Given the description of an element on the screen output the (x, y) to click on. 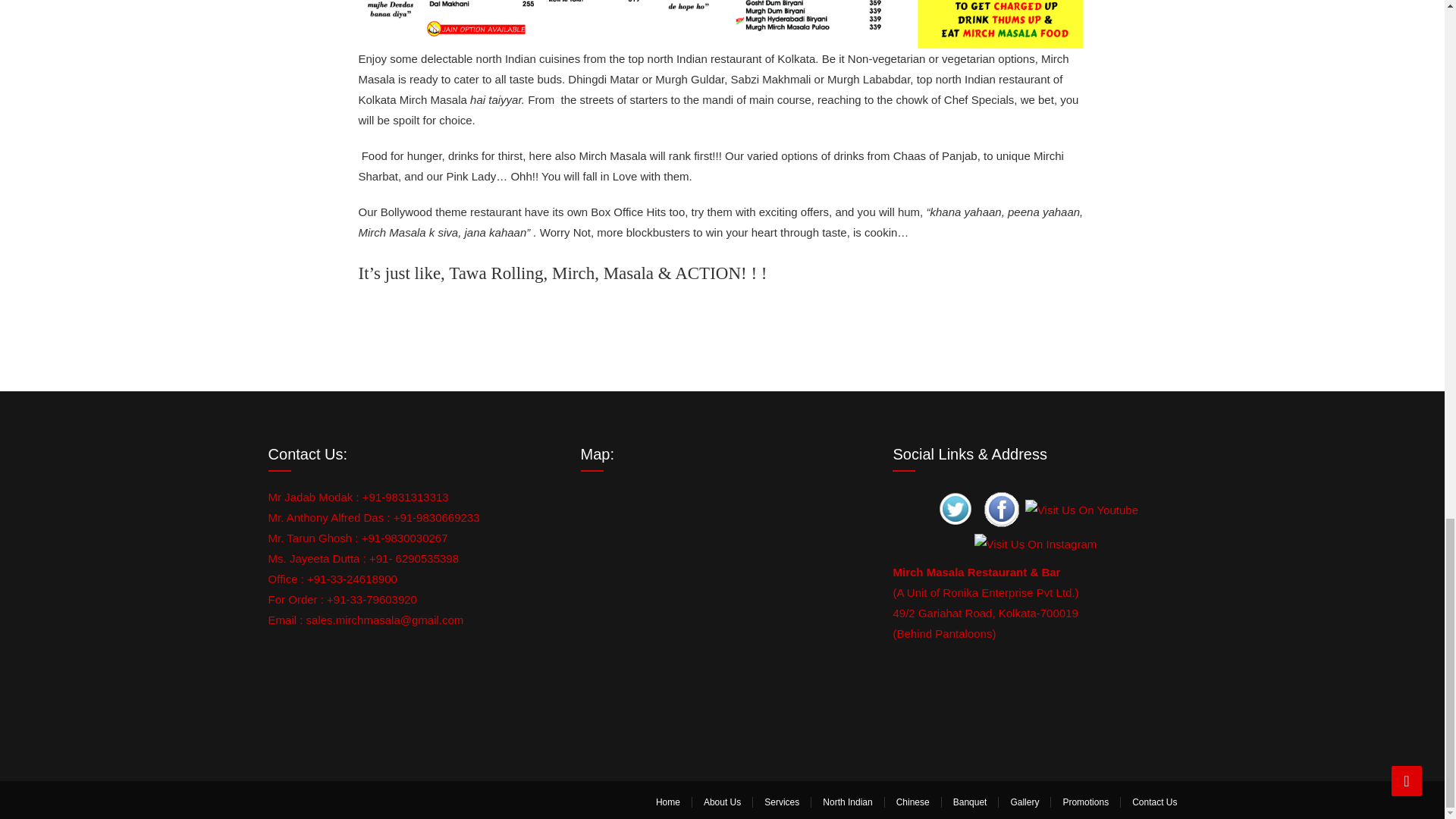
Visit Us On Youtube (1081, 508)
Visit Us On Facebook (1001, 508)
Visit Us On Instagram (1035, 542)
Visit Us On Twitter (954, 508)
